Given the description of an element on the screen output the (x, y) to click on. 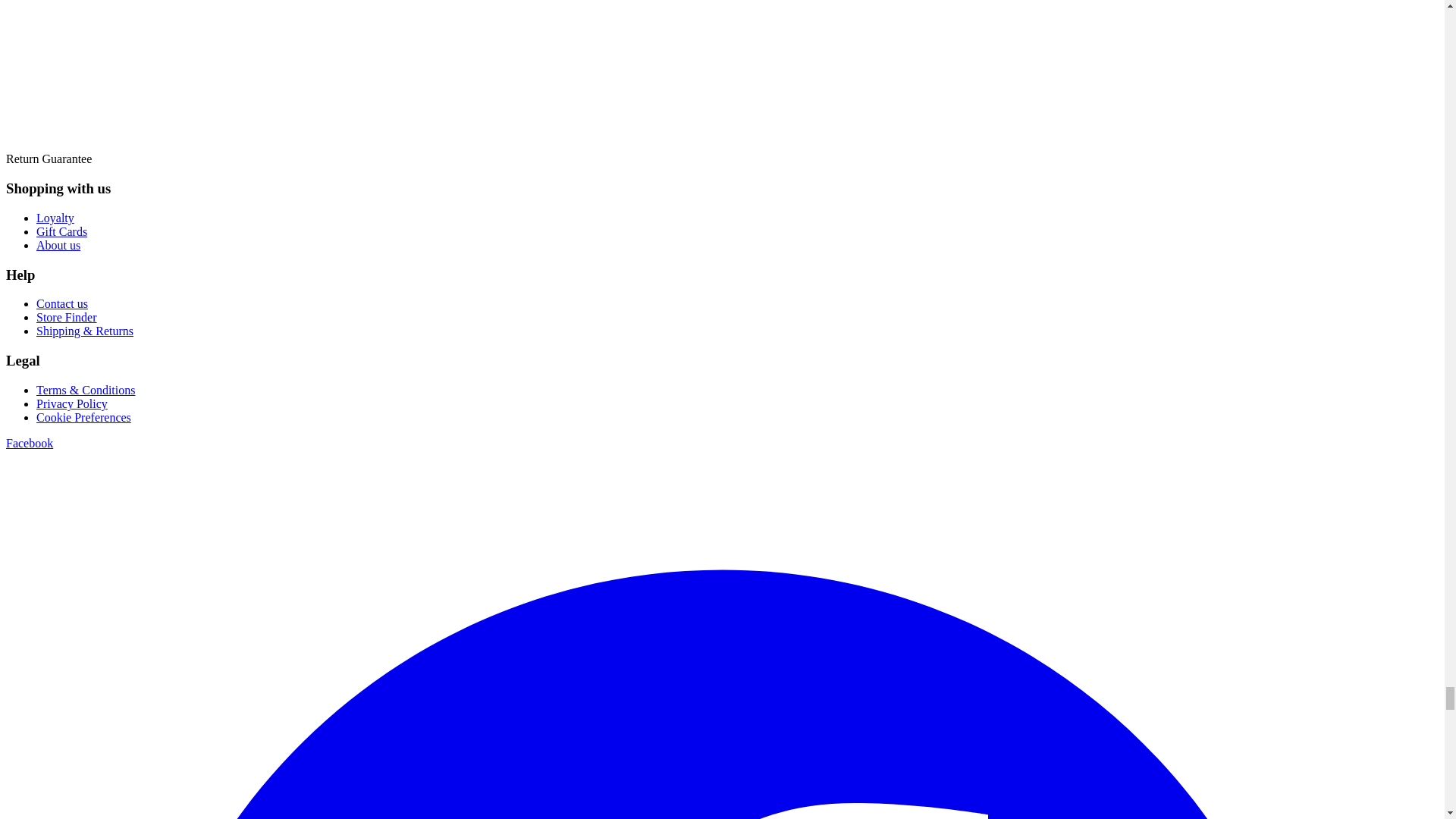
Cookie Preferences (83, 417)
About us (58, 245)
Contact us (61, 303)
Loyalty (55, 217)
Gift Cards (61, 231)
Privacy Policy (71, 403)
Store Finder (66, 317)
